Given the description of an element on the screen output the (x, y) to click on. 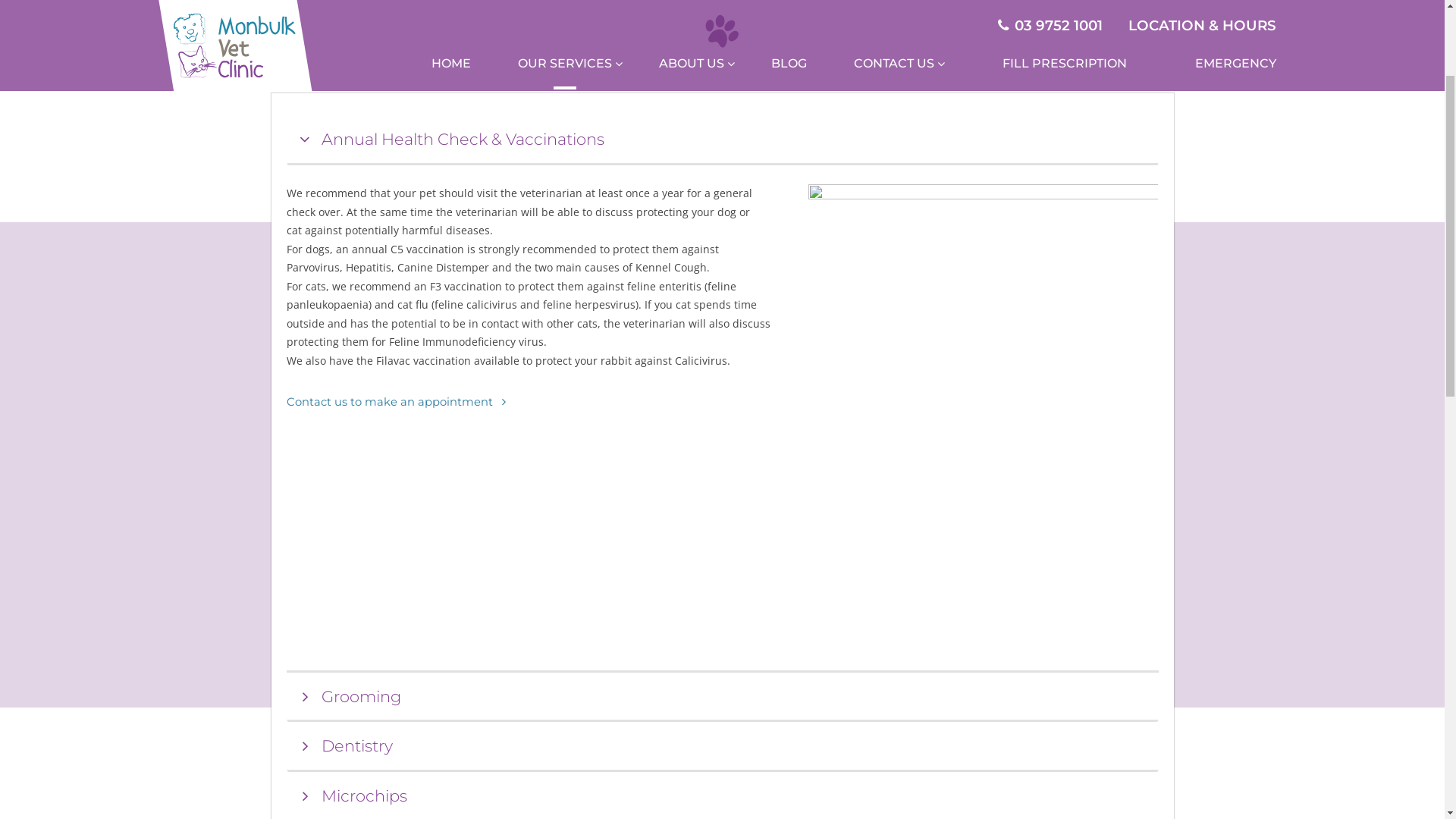
BLOG Element type: text (788, 228)
EMERGENCY Element type: text (1223, 228)
LOCATION & HOURS Element type: text (1202, 189)
CONTACT US Element type: text (892, 228)
Annual Health Check & Vaccinations Element type: text (722, 304)
Contact us to make an appointment Element type: text (395, 566)
HOME Element type: text (451, 228)
FILL PRESCRIPTION Element type: text (1053, 228)
ABOUT US Element type: text (691, 228)
OUR SERVICES Element type: text (564, 228)
03 9752 1001 Element type: text (1049, 189)
